Given the description of an element on the screen output the (x, y) to click on. 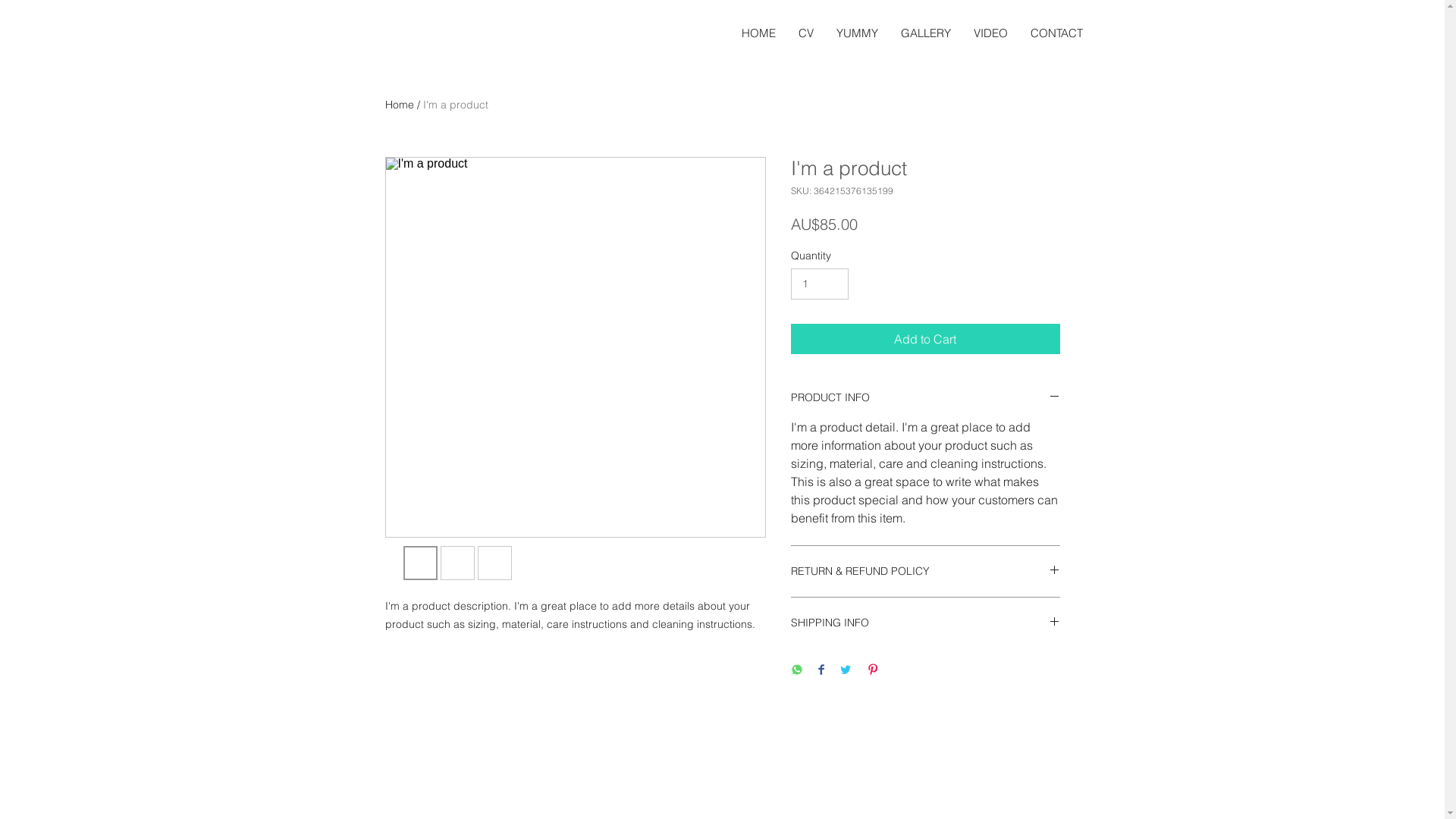
RETURN & REFUND POLICY Element type: text (924, 571)
PRODUCT INFO Element type: text (924, 397)
Add to Cart Element type: text (924, 338)
VIDEO Element type: text (989, 32)
YUMMY Element type: text (857, 32)
HOME Element type: text (757, 32)
CONTACT Element type: text (1056, 32)
Home Element type: text (399, 104)
GALLERY Element type: text (924, 32)
SHIPPING INFO Element type: text (924, 622)
I'm a product Element type: text (455, 104)
CV Element type: text (806, 32)
